Given the description of an element on the screen output the (x, y) to click on. 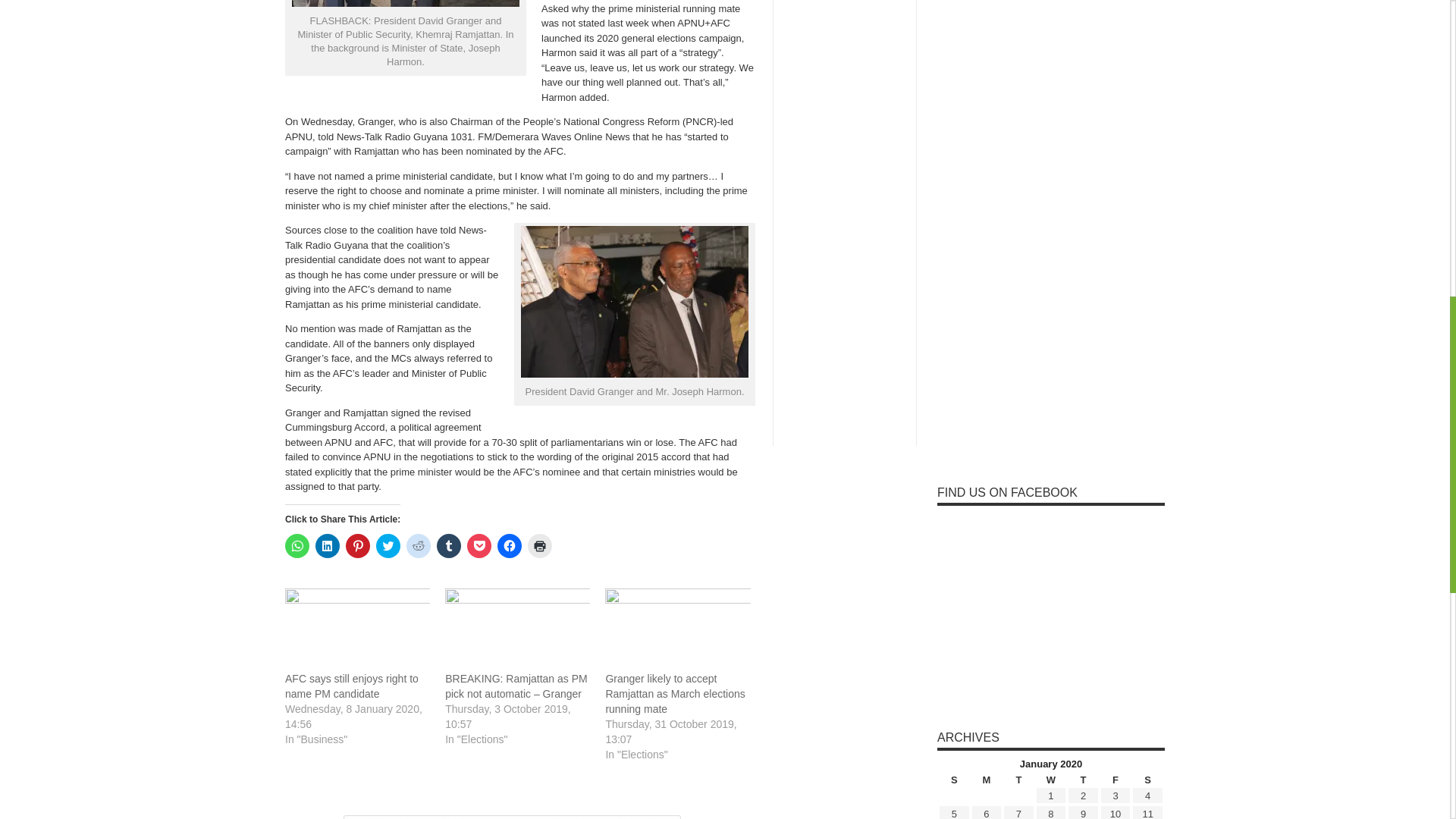
Click to share on Reddit (418, 545)
Click to print (539, 545)
Click to share on WhatsApp (296, 545)
Click to share on Pocket (479, 545)
Click to share on Pinterest (357, 545)
Click to share on Tumblr (448, 545)
Click to share on LinkedIn (327, 545)
Click to share on Twitter (387, 545)
Click to share on Facebook (509, 545)
